Given the description of an element on the screen output the (x, y) to click on. 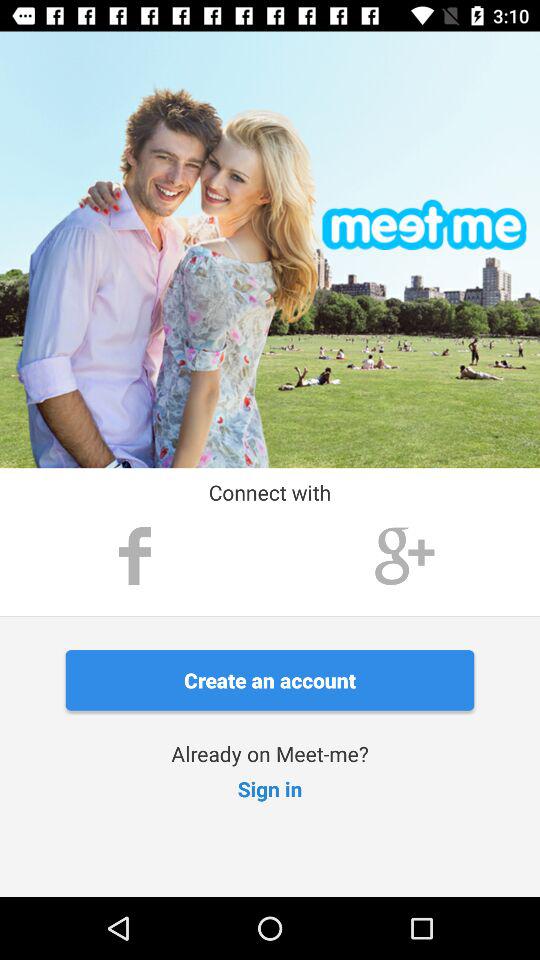
scroll to create an account button (269, 680)
